Given the description of an element on the screen output the (x, y) to click on. 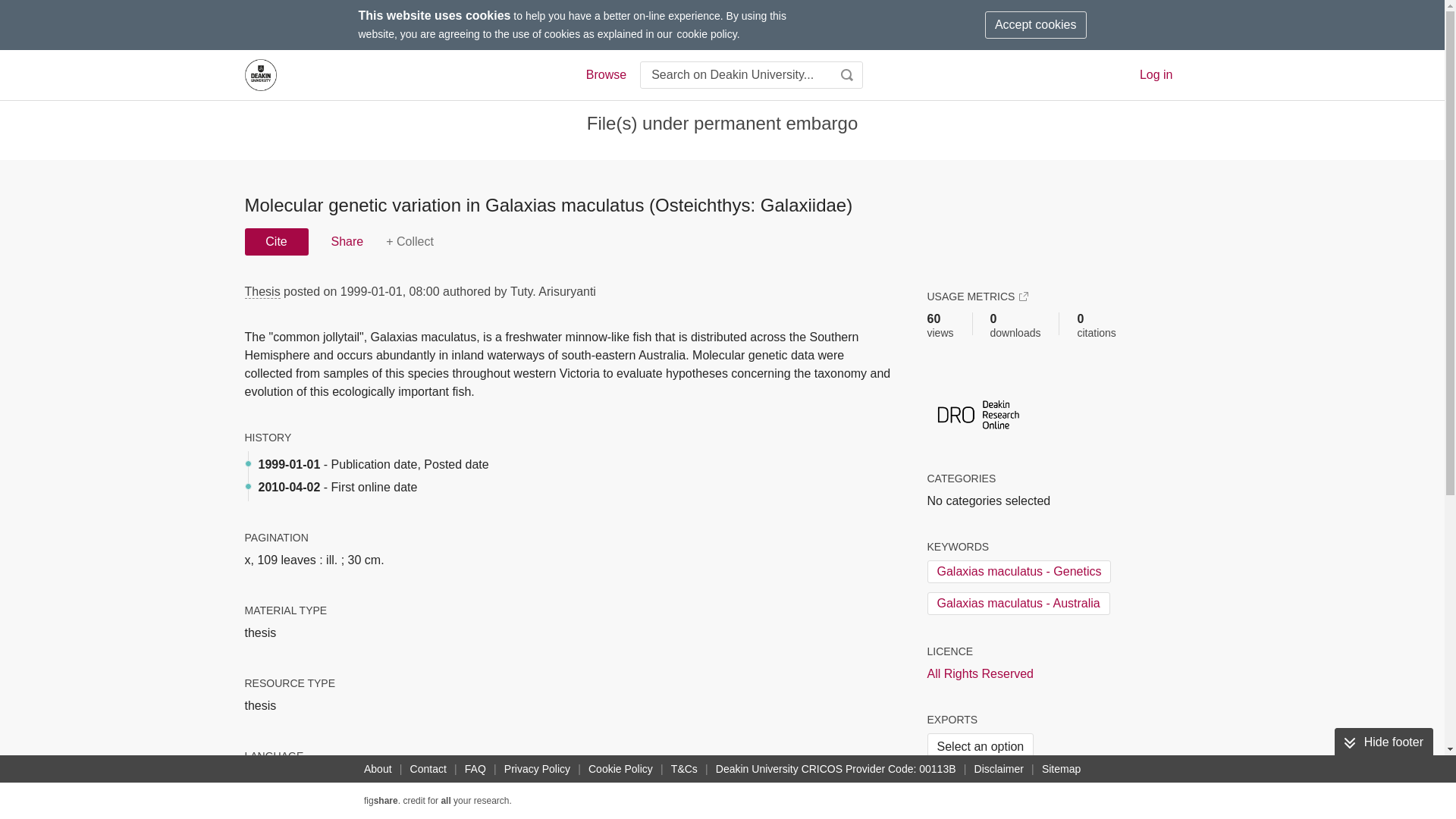
Accept cookies (1035, 24)
USAGE METRICS (976, 296)
Contact (428, 769)
Galaxias maculatus - Genetics (1018, 571)
Log in (1156, 74)
Browse (605, 75)
Share (346, 241)
Deakin University CRICOS Provider Code: 00113B (835, 769)
Hide footer (1383, 742)
Galaxias maculatus - Australia (1017, 603)
Select an option (979, 746)
Cookie Policy (620, 769)
About (377, 769)
Cite (275, 241)
FAQ (475, 769)
